Given the description of an element on the screen output the (x, y) to click on. 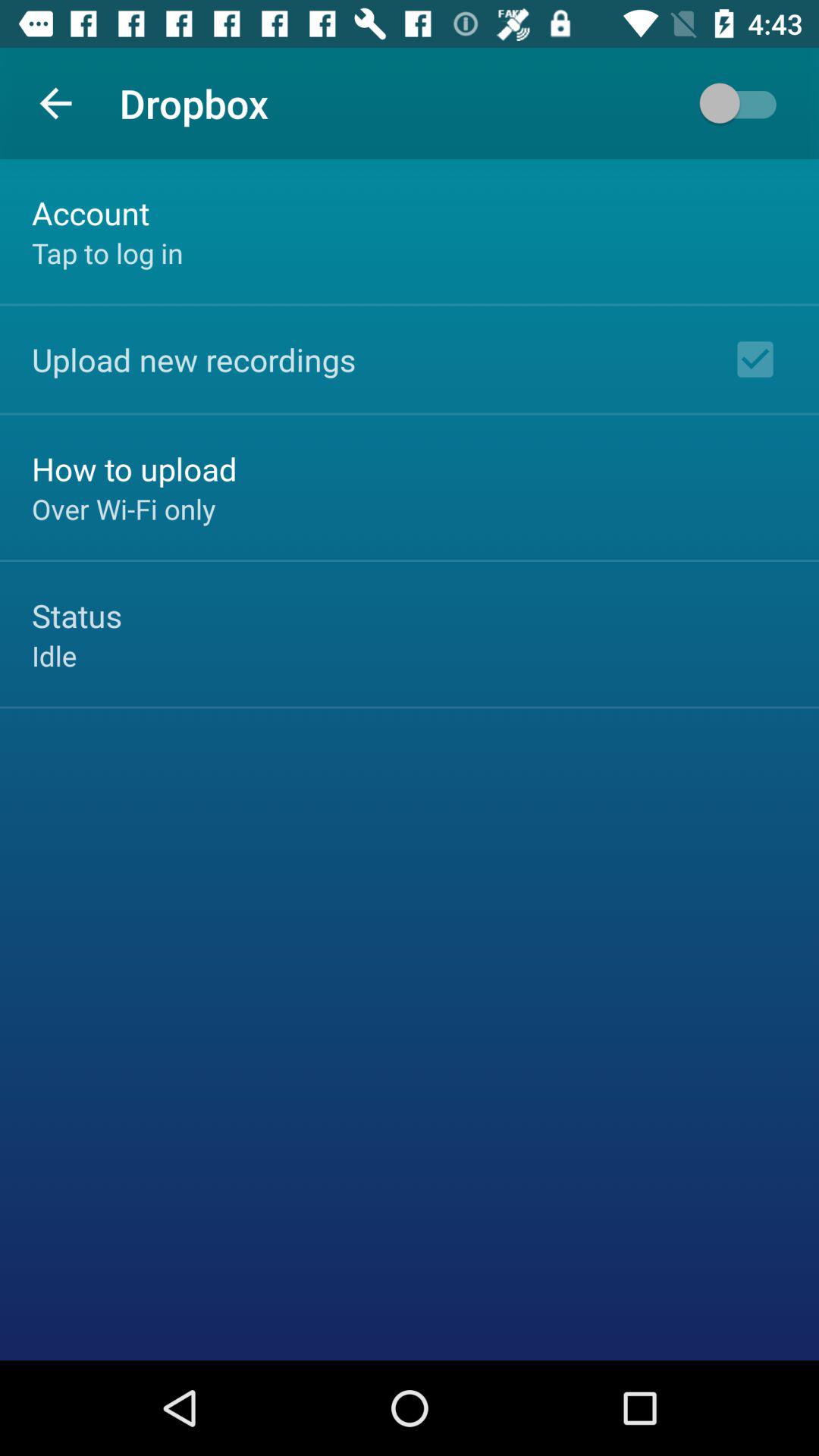
launch the app next to the dropbox app (55, 103)
